Given the description of an element on the screen output the (x, y) to click on. 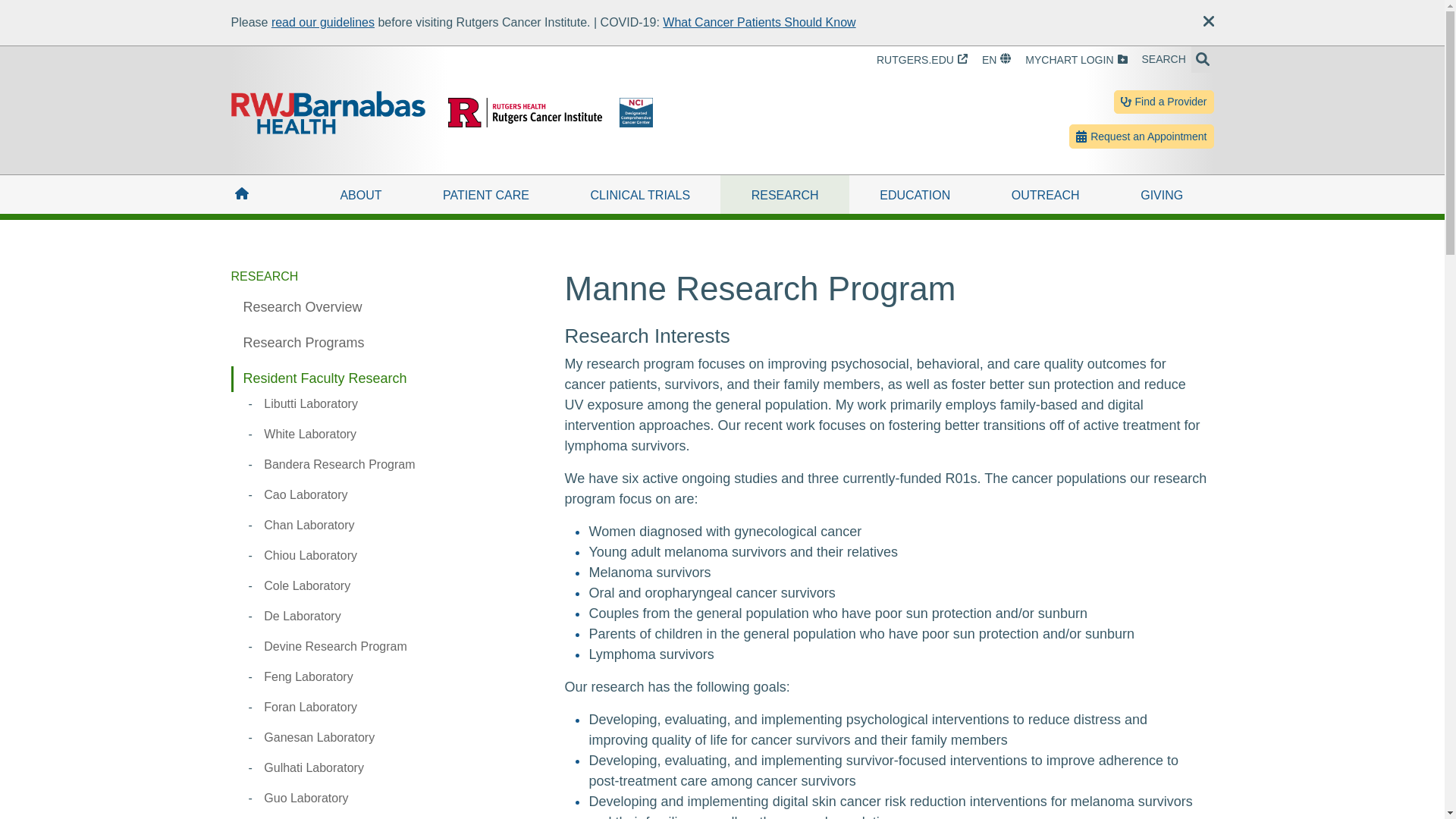
RUTGERS.EDU (922, 60)
ABOUT (360, 194)
EN (995, 60)
What Cancer Patients Should Know (759, 21)
Request an Appointment (1140, 136)
MYCHART LOGIN (1075, 60)
Find a Provider (1163, 101)
Current Visitation Guidelines (322, 21)
read our guidelines (322, 21)
CINJ Research Highlights (324, 378)
